Given the description of an element on the screen output the (x, y) to click on. 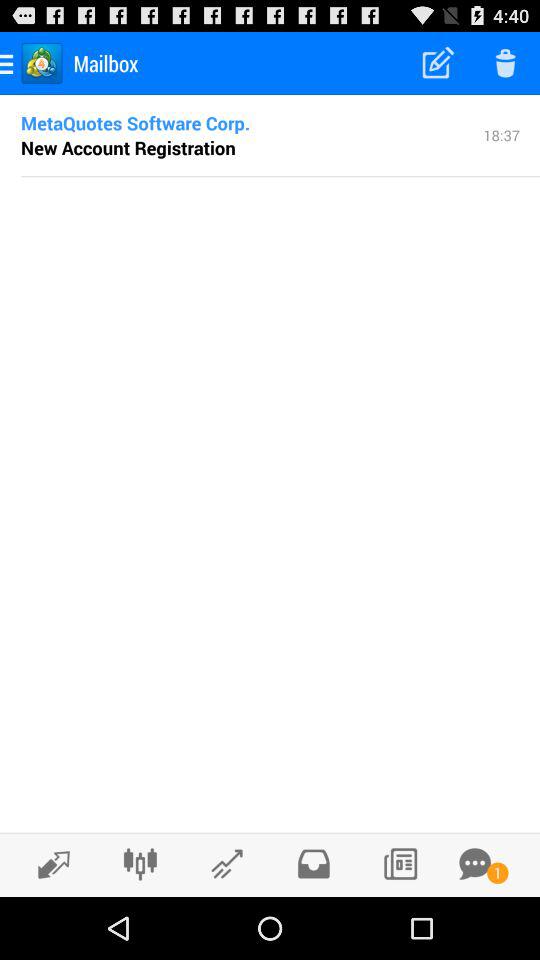
choose item below metaquotes software corp. icon (128, 147)
